Given the description of an element on the screen output the (x, y) to click on. 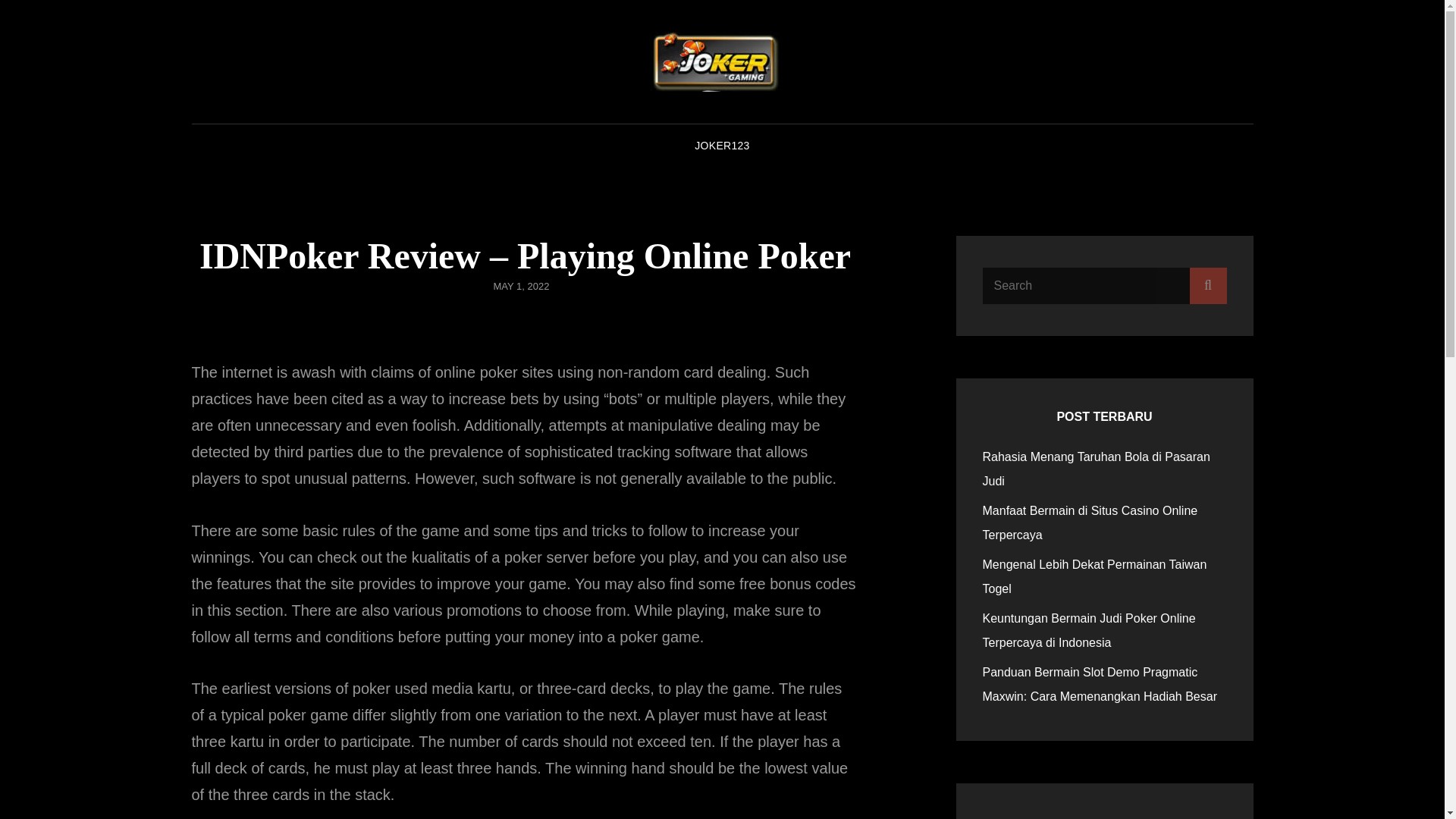
Keuntungan Bermain Judi Poker Online Terpercaya di Indonesia (1088, 630)
Rahasia Menang Taruhan Bola di Pasaran Judi (1095, 468)
Mengenal Lebih Dekat Permainan Taiwan Togel (1094, 576)
MAY 1, 2022 (521, 285)
Manfaat Bermain di Situs Casino Online Terpercaya (1090, 522)
JOKER123 (721, 145)
Search (1207, 285)
